Given the description of an element on the screen output the (x, y) to click on. 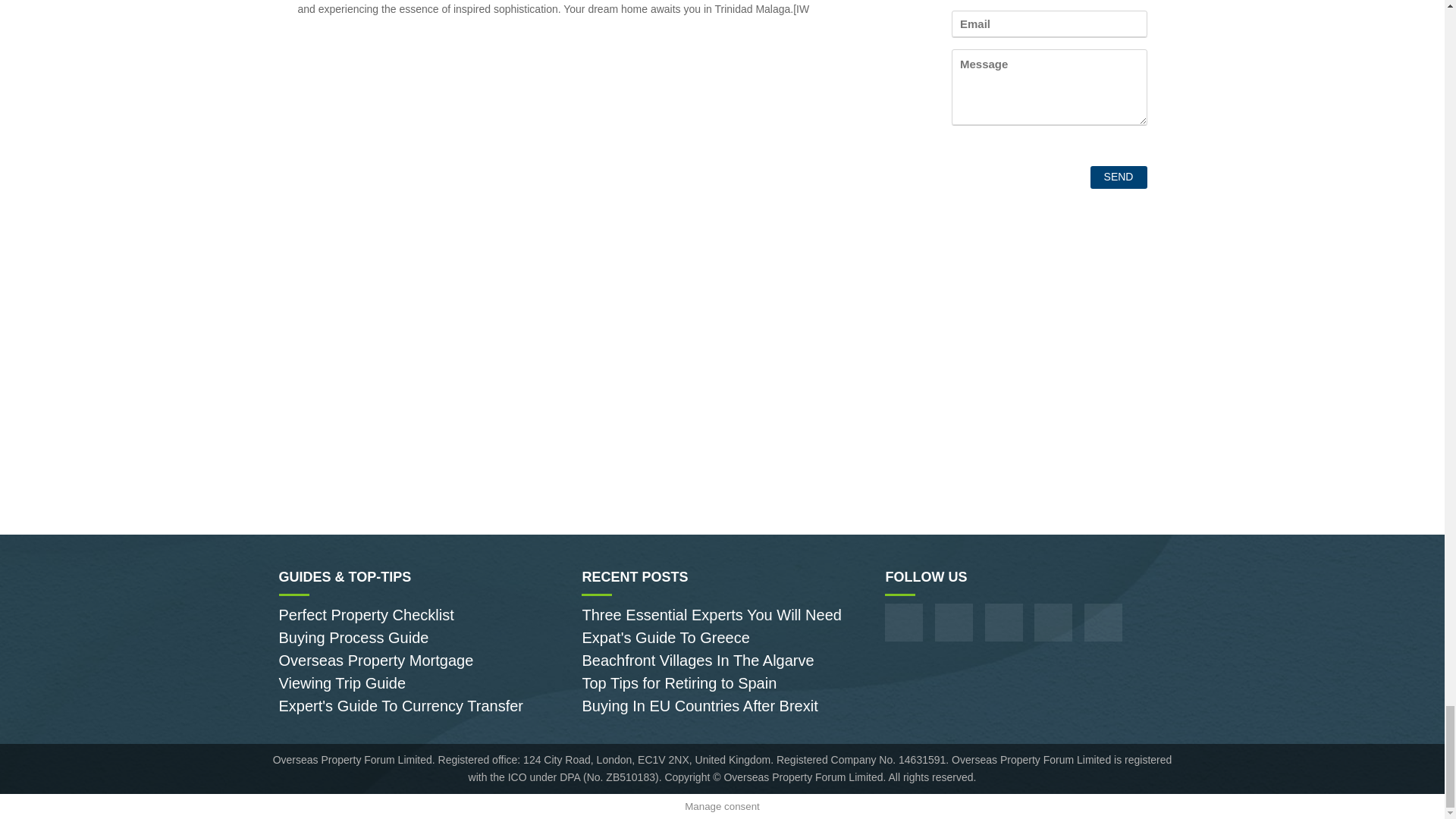
Instagram (953, 622)
Send (1118, 177)
Linkedin (1103, 622)
Twitter (1052, 622)
Facebook (904, 622)
Pinterest (1004, 622)
